Given the description of an element on the screen output the (x, y) to click on. 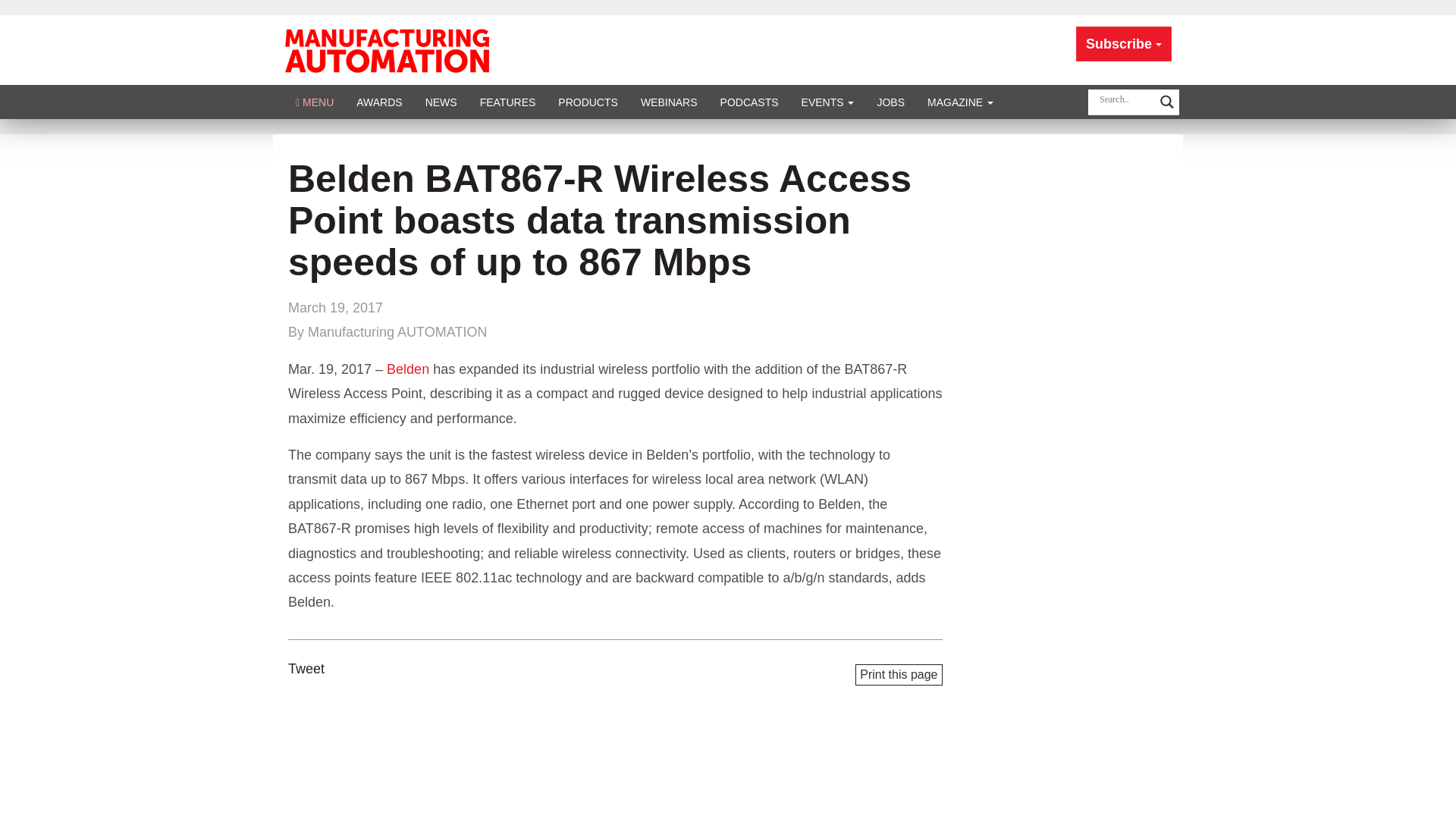
Click to show site navigation (314, 101)
PODCASTS (749, 101)
Manufacturing AUTOMATION (386, 48)
WEBINARS (668, 101)
PRODUCTS (587, 101)
MAGAZINE (959, 101)
NEWS (440, 101)
MENU (314, 101)
EVENTS (828, 101)
Subscribe (1123, 43)
